Given the description of an element on the screen output the (x, y) to click on. 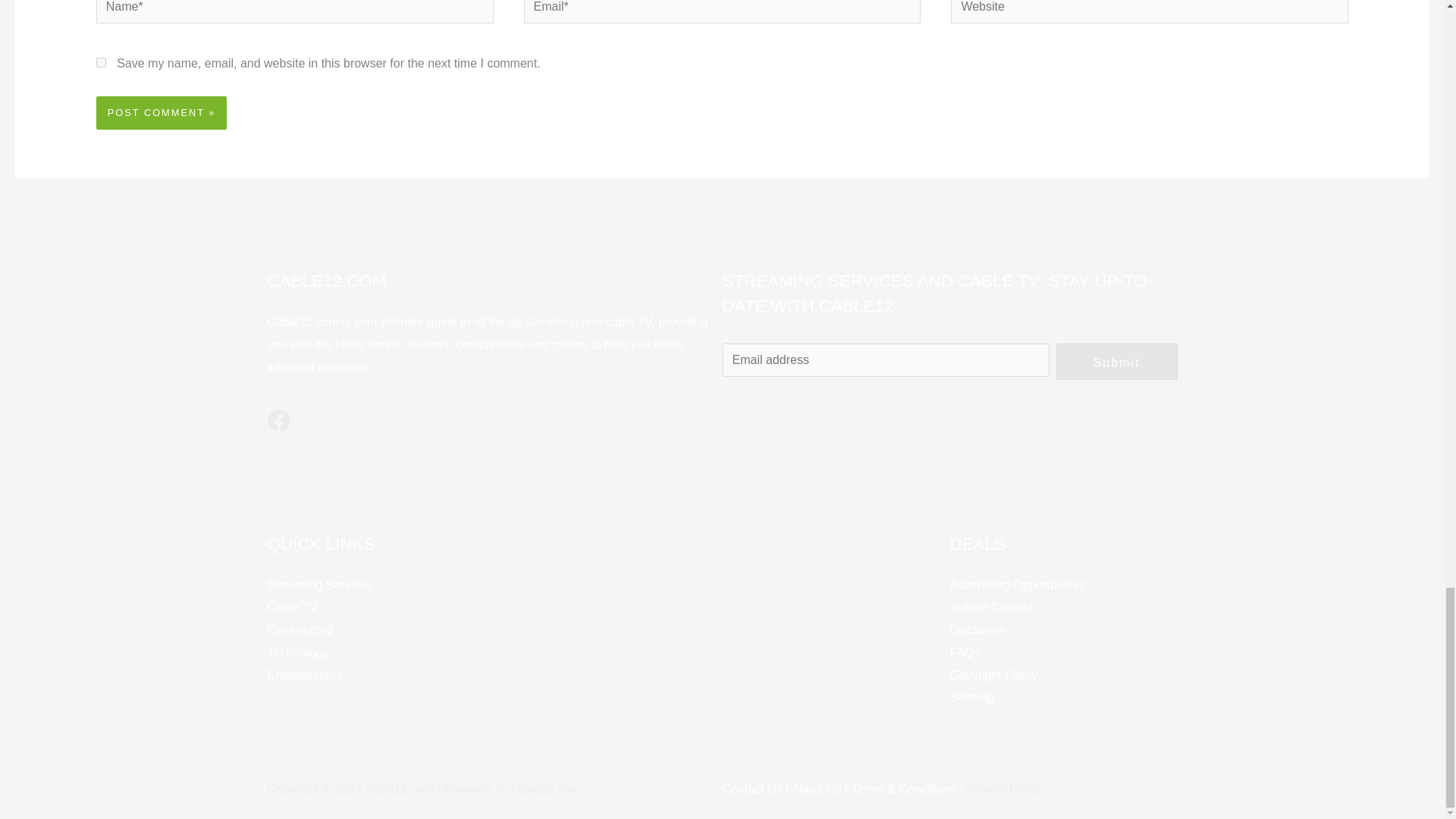
Submit Content (990, 606)
Disclaimer (977, 629)
Cable TV (291, 606)
Copyright Policy (992, 675)
Entertainment (304, 675)
Contact Us (751, 788)
About Us (818, 788)
Privacy Policy (1004, 788)
Cord-cutting (299, 629)
Streaming Services (319, 584)
